Given the description of an element on the screen output the (x, y) to click on. 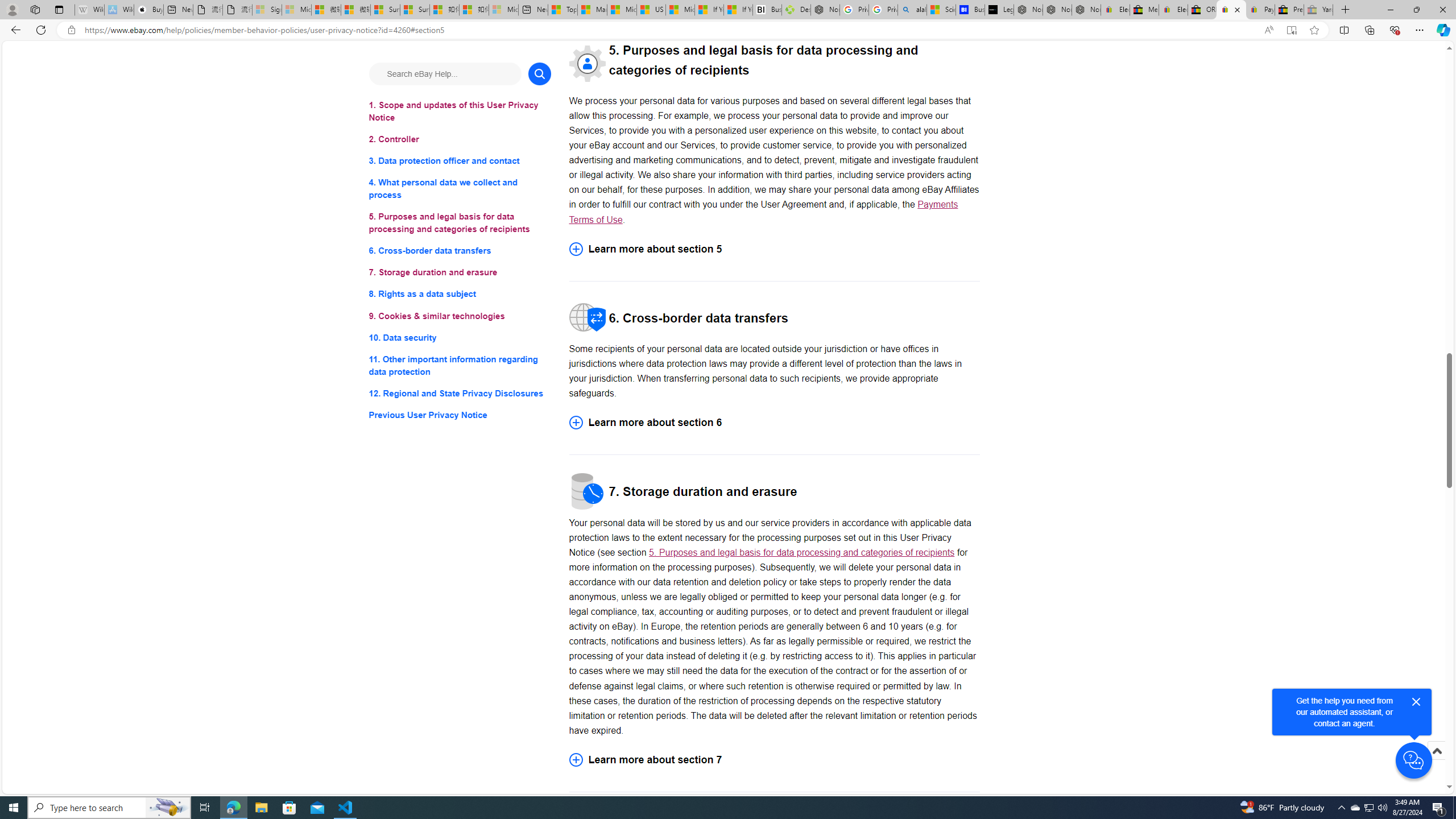
2. Controller (459, 138)
9. Cookies & similar technologies (459, 315)
9. Cookies & similar technologies (459, 315)
